Given the description of an element on the screen output the (x, y) to click on. 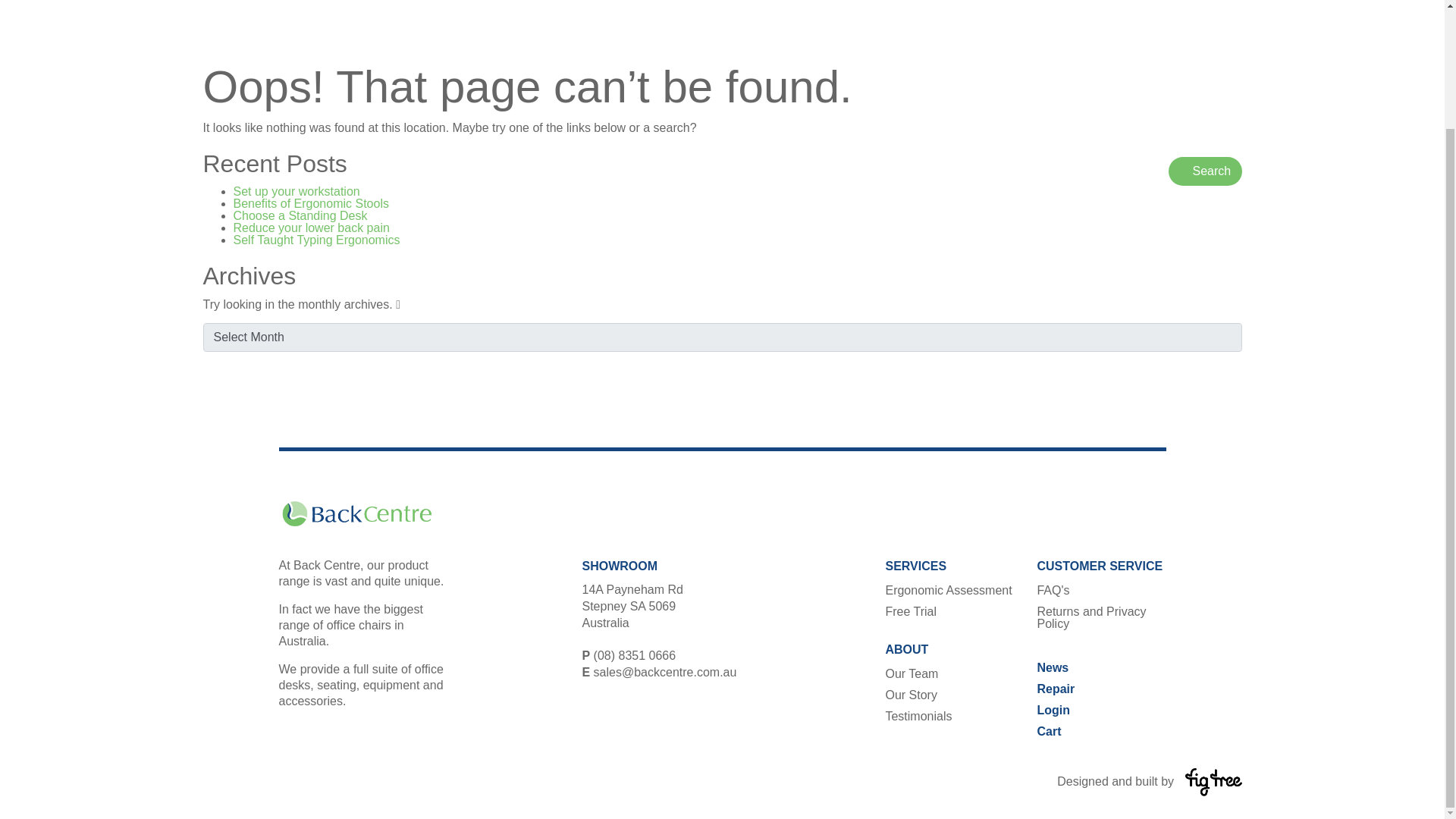
Back Centre (356, 513)
